Given the description of an element on the screen output the (x, y) to click on. 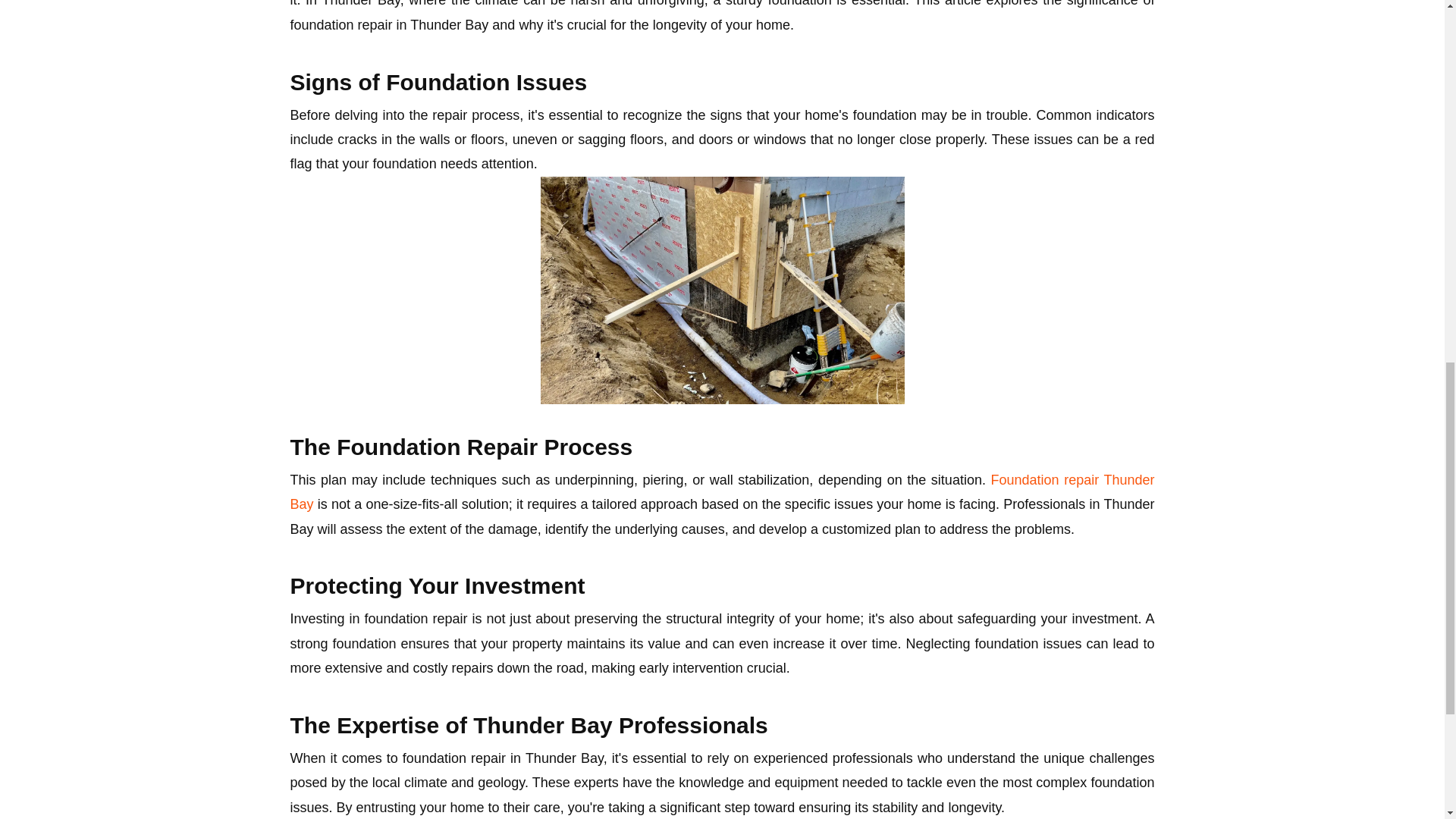
Foundation repair Thunder Bay (721, 491)
